Given the description of an element on the screen output the (x, y) to click on. 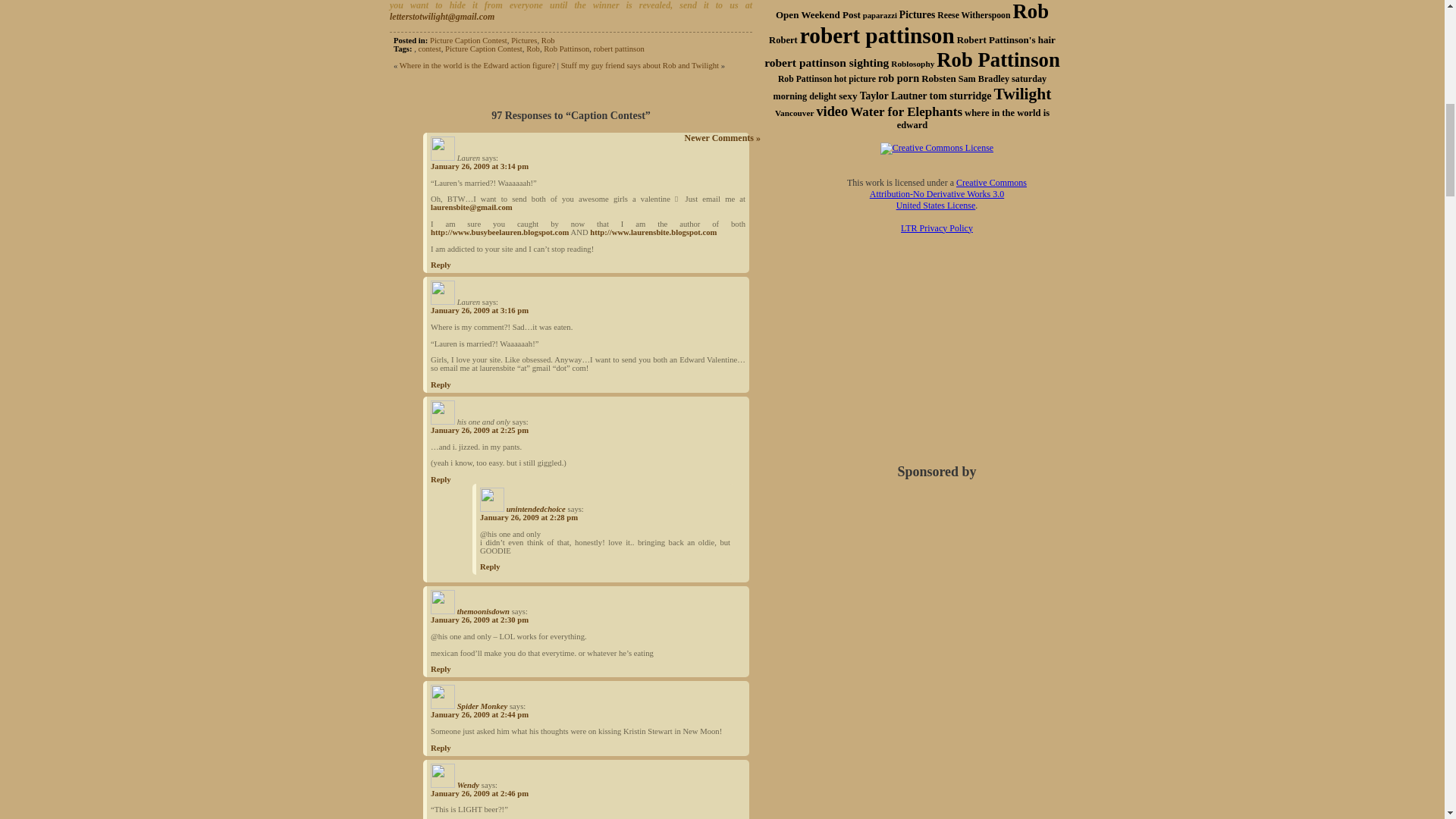
January 26, 2009 at 3:16 pm (479, 310)
January 26, 2009 at 2:25 pm (479, 429)
Where in the world is the Edward action figure? (476, 65)
January 26, 2009 at 2:28 pm (529, 517)
robert pattinson (619, 49)
Picture Caption Contest (467, 40)
Rob Pattinson (566, 49)
Picture Caption Contest (483, 49)
Rob (532, 49)
Reply (440, 265)
Reply (440, 384)
Reply (440, 669)
Reply (440, 479)
January 26, 2009 at 2:30 pm (479, 619)
Rob (547, 40)
